Given the description of an element on the screen output the (x, y) to click on. 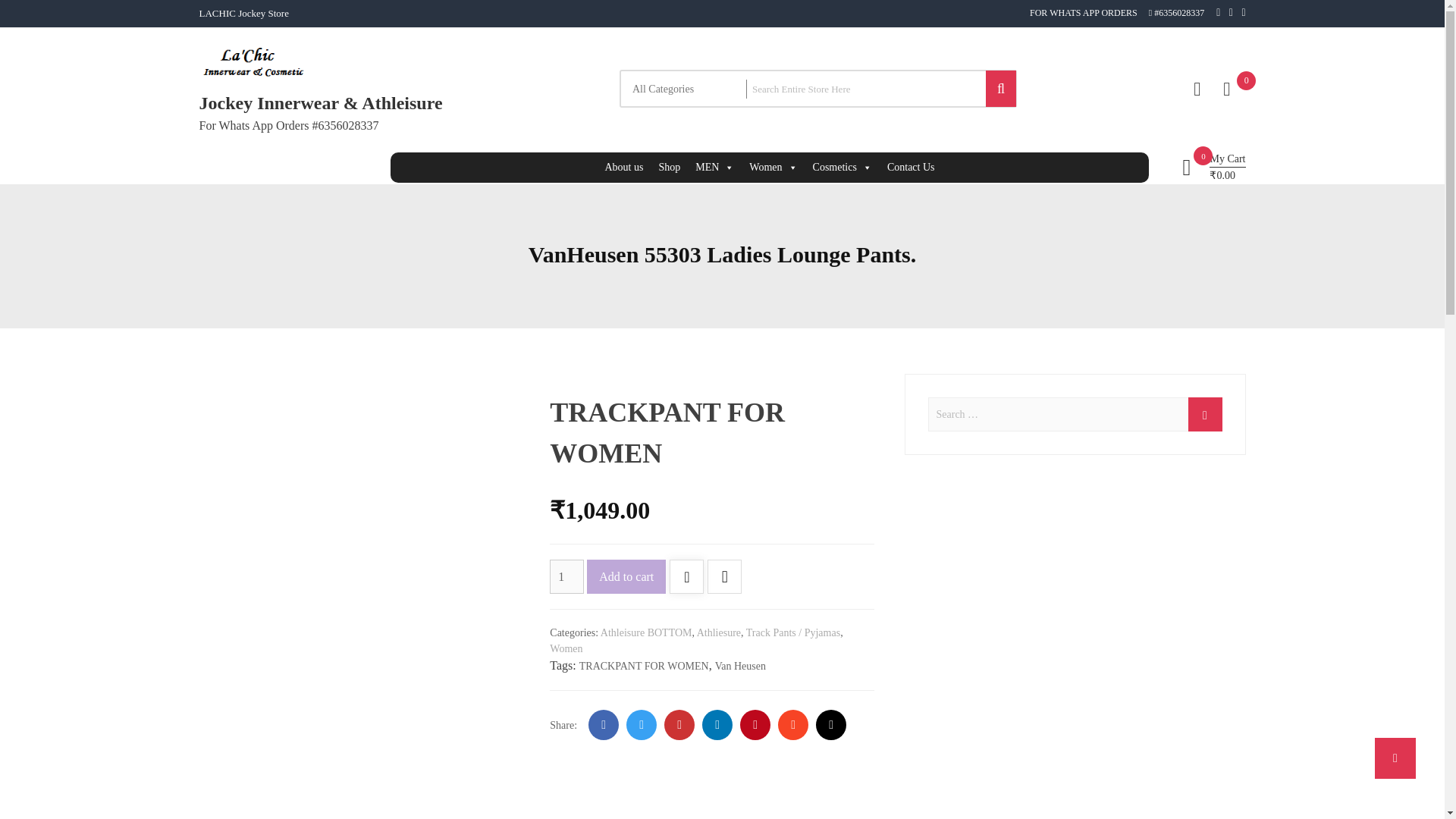
1 (566, 576)
Add to Wishlist (686, 577)
